Given the description of an element on the screen output the (x, y) to click on. 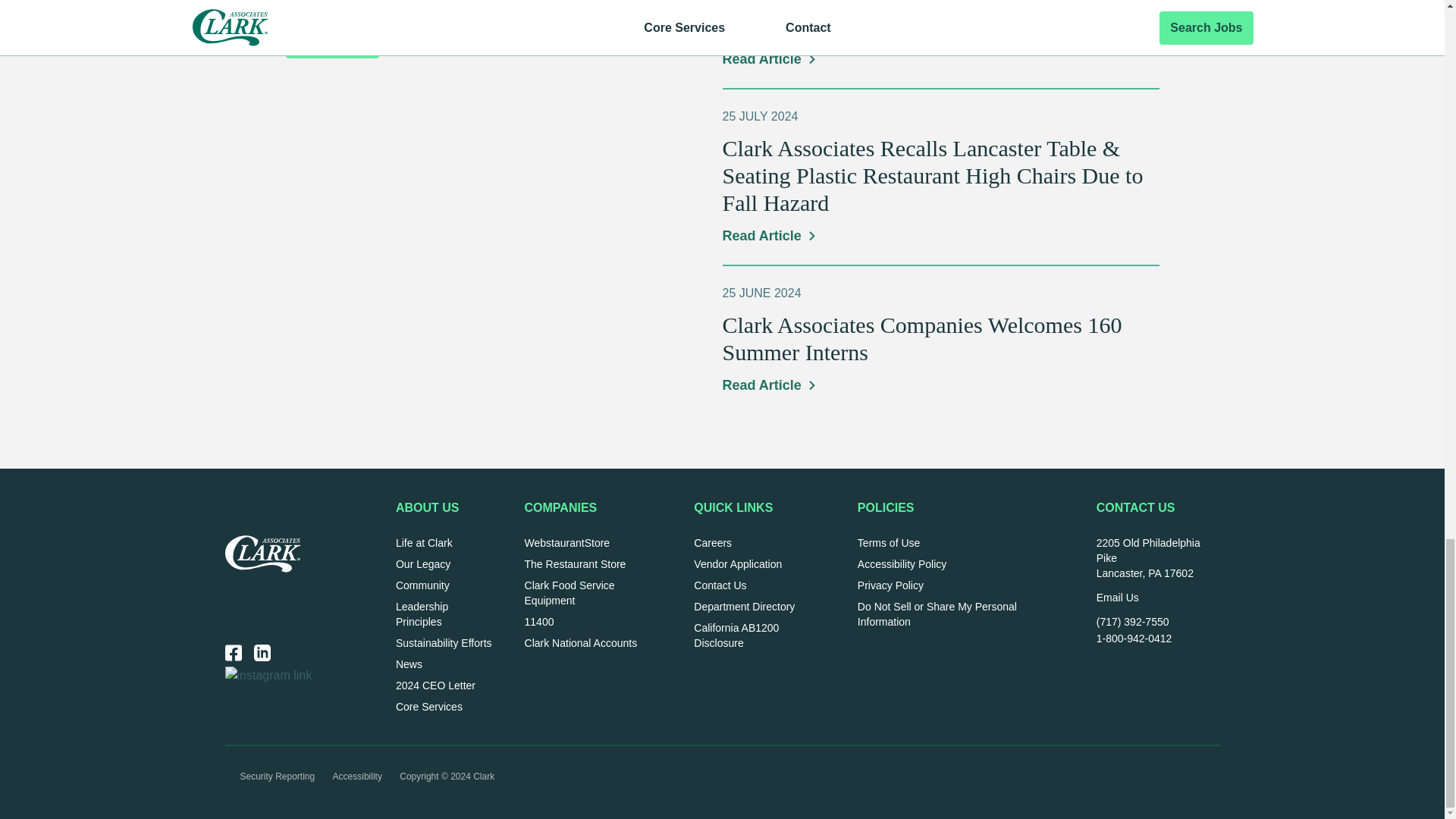
11400 (539, 621)
News (409, 664)
WebstaurantStore (567, 542)
The Restaurant Store (575, 563)
Our Legacy (422, 563)
Leadership Principles (422, 614)
2024 CEO Letter (436, 685)
Clark Food Service Equipment (569, 592)
Community (422, 585)
Vendor Application (737, 563)
